Given the description of an element on the screen output the (x, y) to click on. 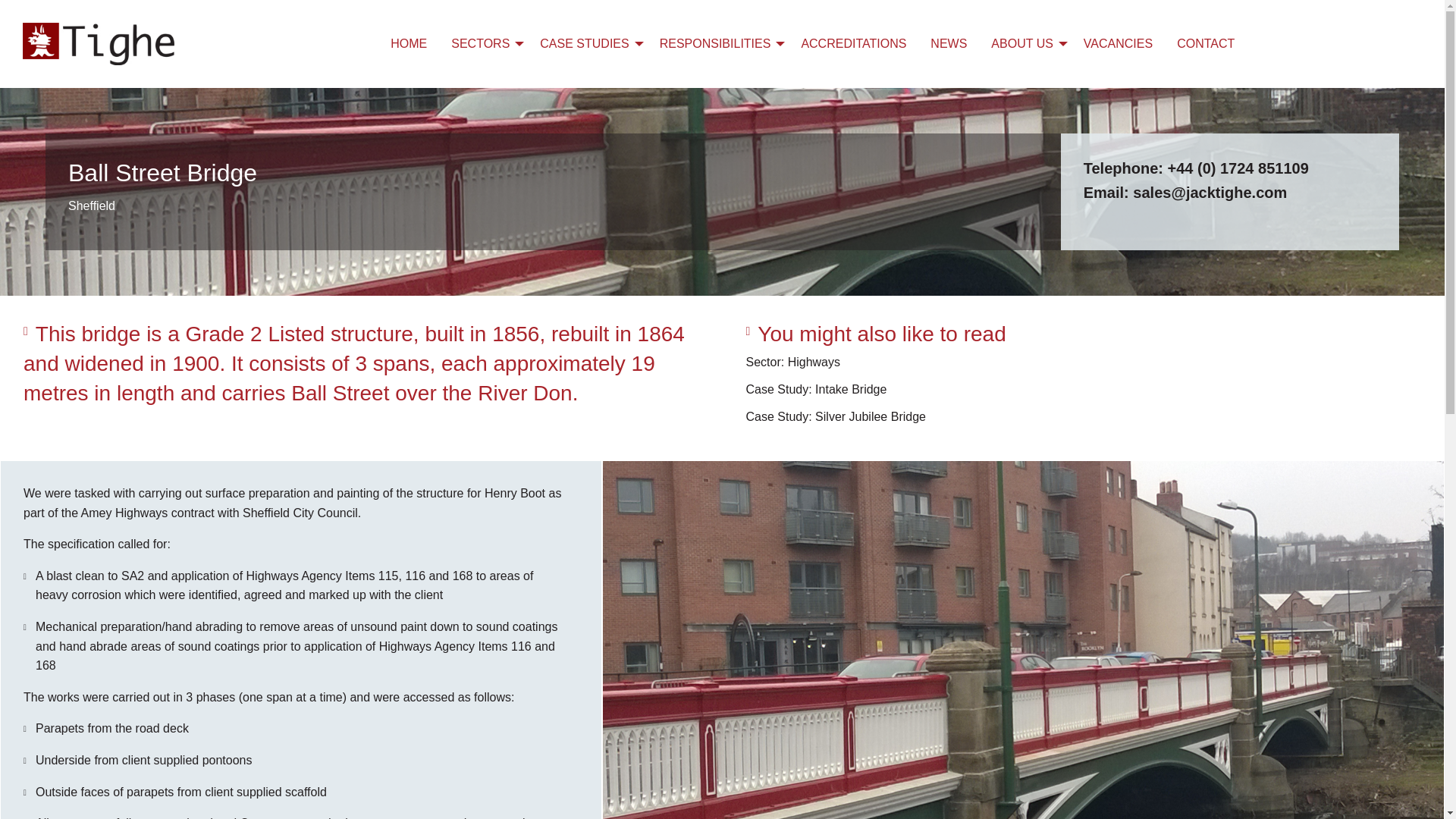
HOME (408, 43)
SECTORS (483, 43)
CASE STUDIES (586, 43)
Jack Tighe Ltd (98, 43)
